Given the description of an element on the screen output the (x, y) to click on. 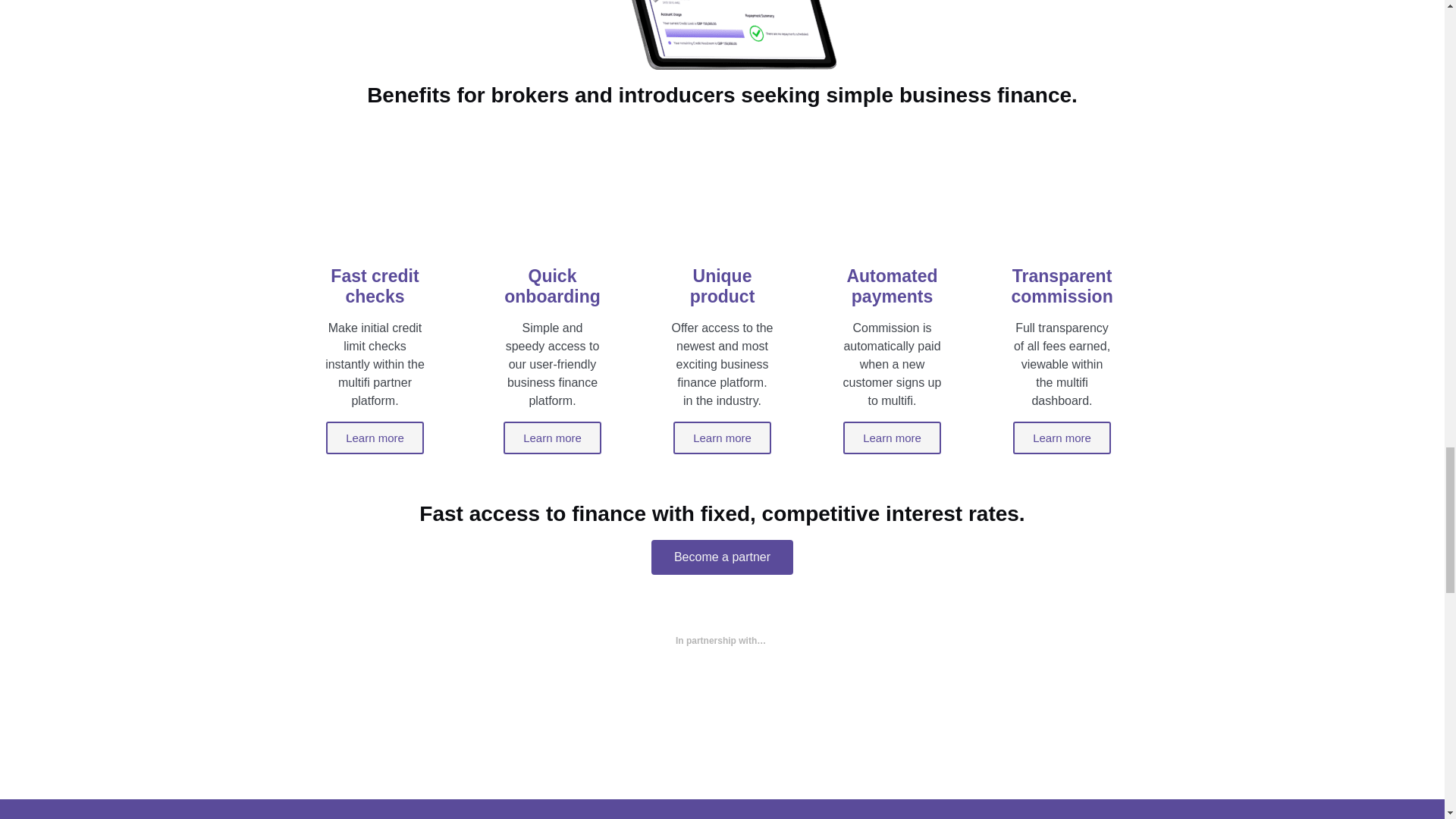
Become a partner (721, 556)
Learn more (1061, 437)
Learn more (721, 437)
Learn more (374, 437)
Learn more (891, 437)
Learn more (552, 437)
